Given the description of an element on the screen output the (x, y) to click on. 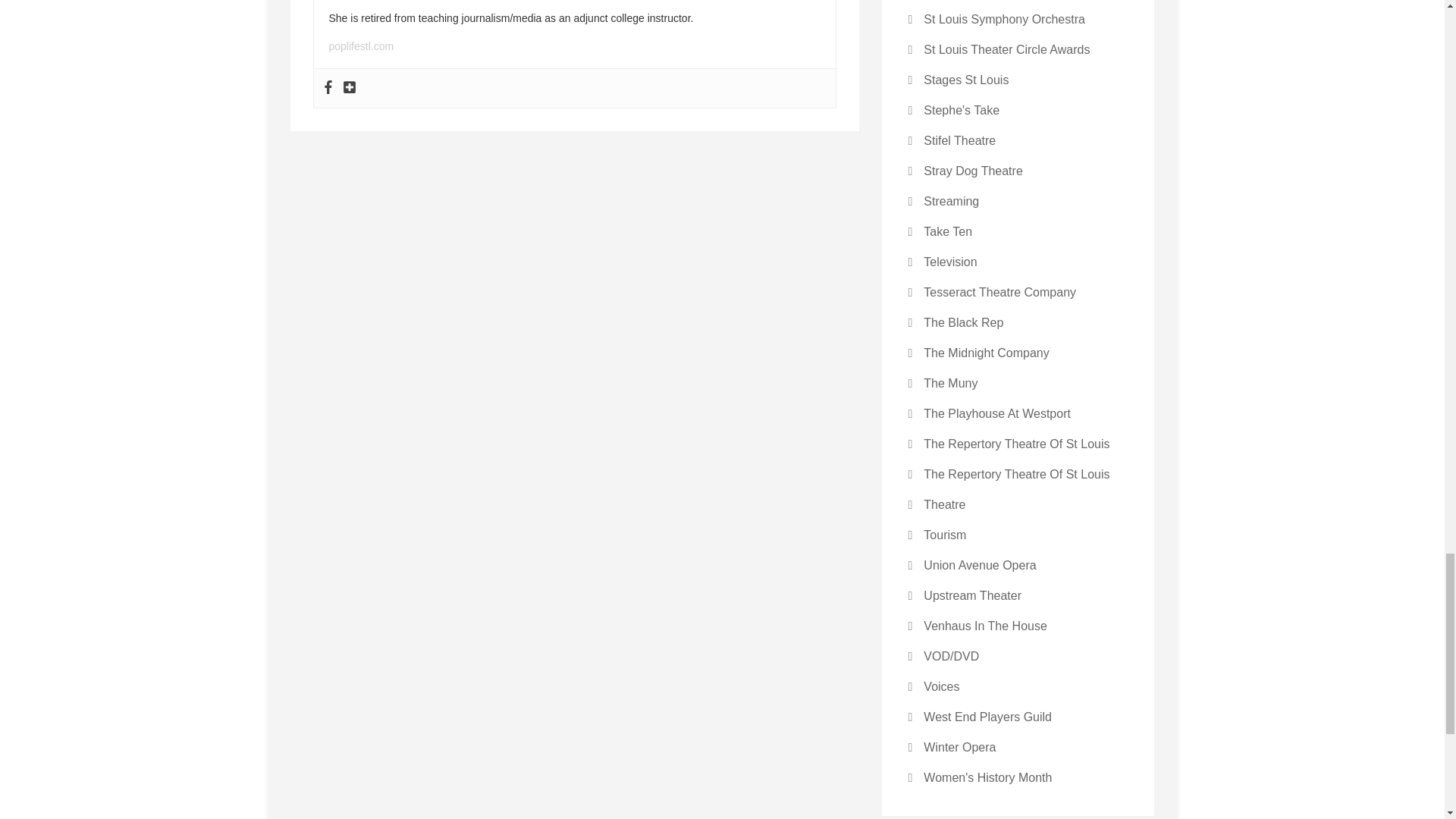
poplifestl.com (361, 46)
